Given the description of an element on the screen output the (x, y) to click on. 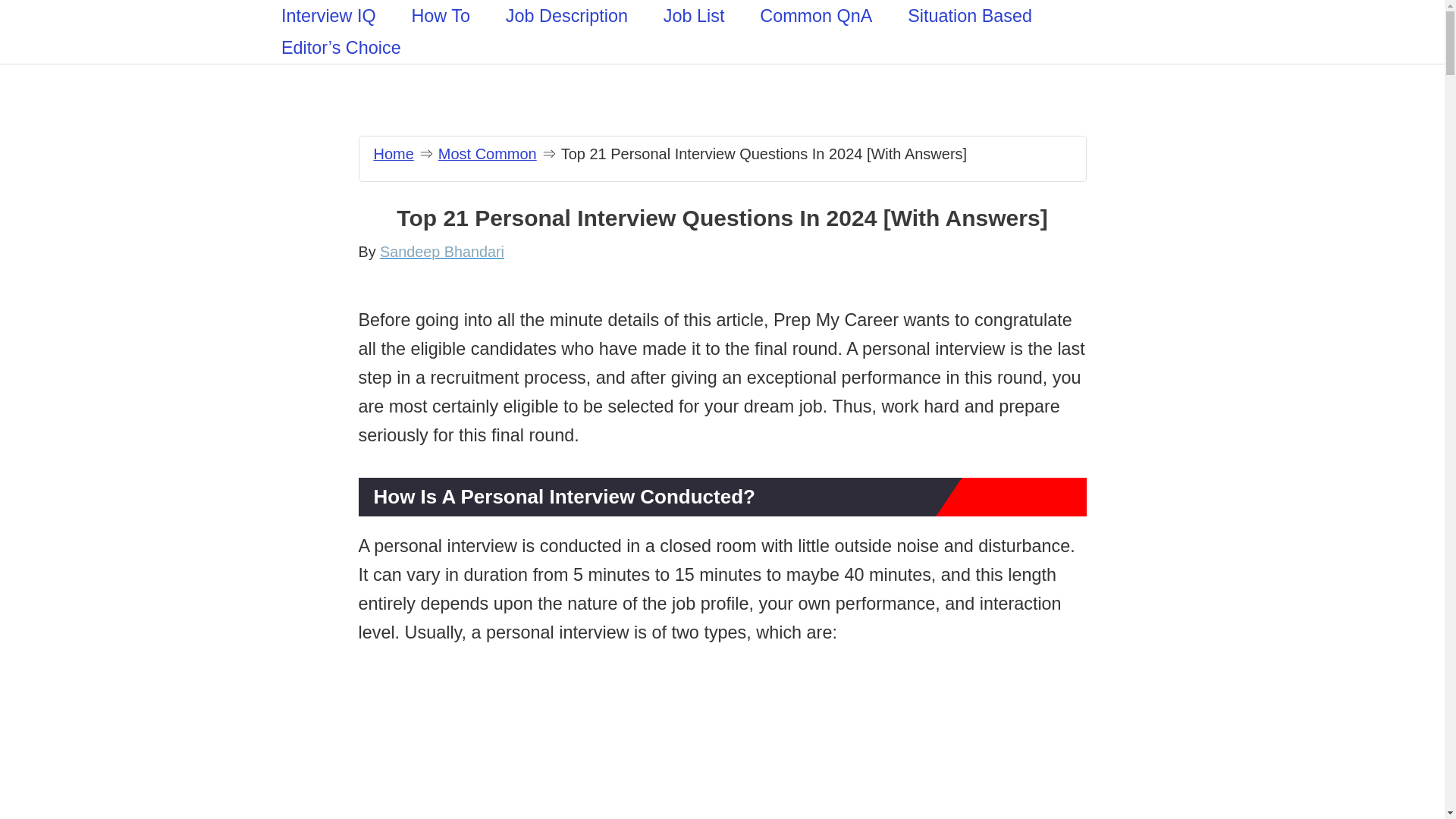
Common QnA (815, 15)
Most Common (487, 153)
Advertisement (722, 747)
How To (440, 15)
Situation Based (969, 15)
Job Description (566, 15)
Sandeep Bhandari (441, 251)
View all posts by Sandeep Bhandari (441, 251)
Job List (693, 15)
Home (392, 153)
